Given the description of an element on the screen output the (x, y) to click on. 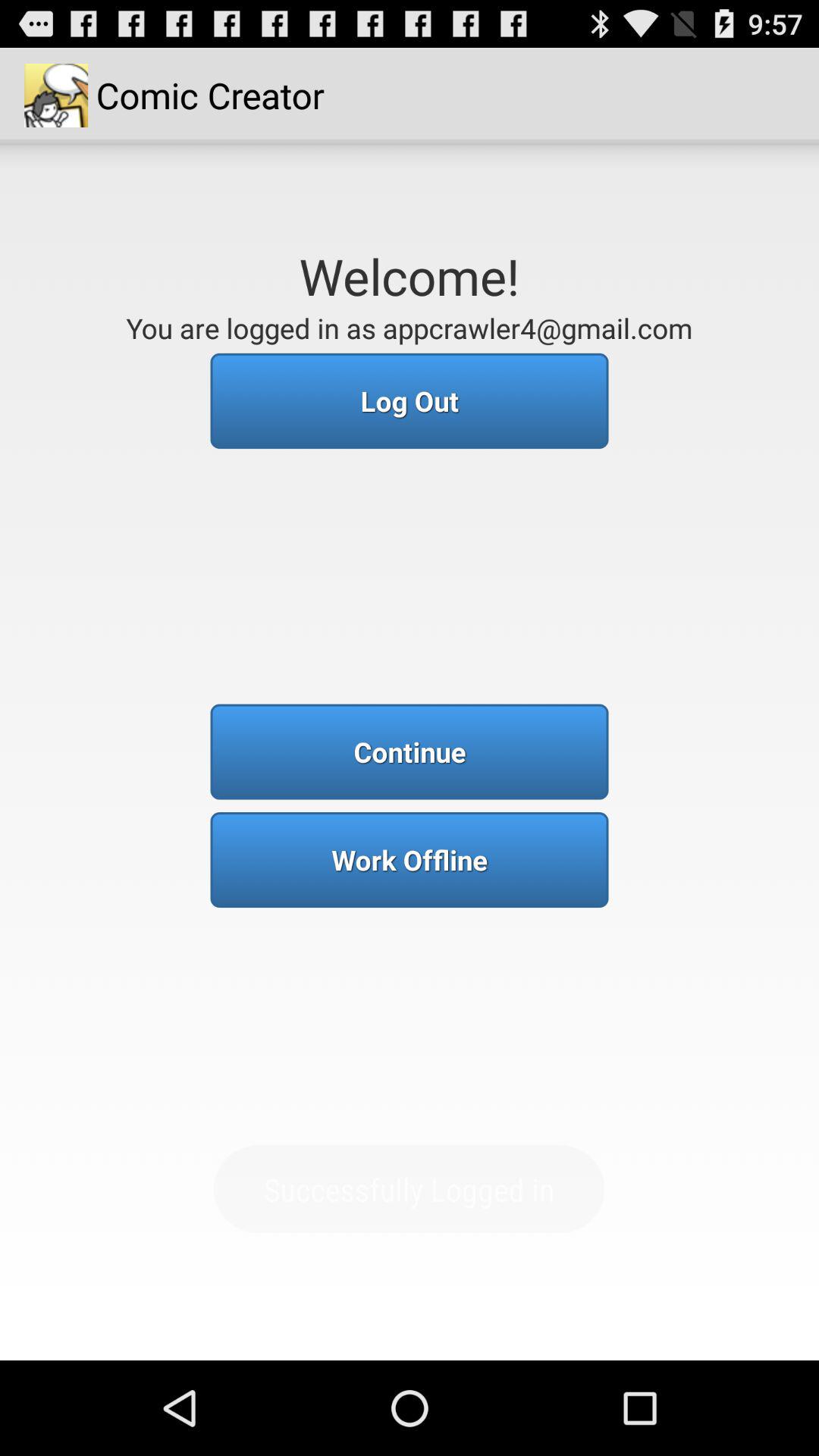
open icon below log out icon (409, 751)
